Given the description of an element on the screen output the (x, y) to click on. 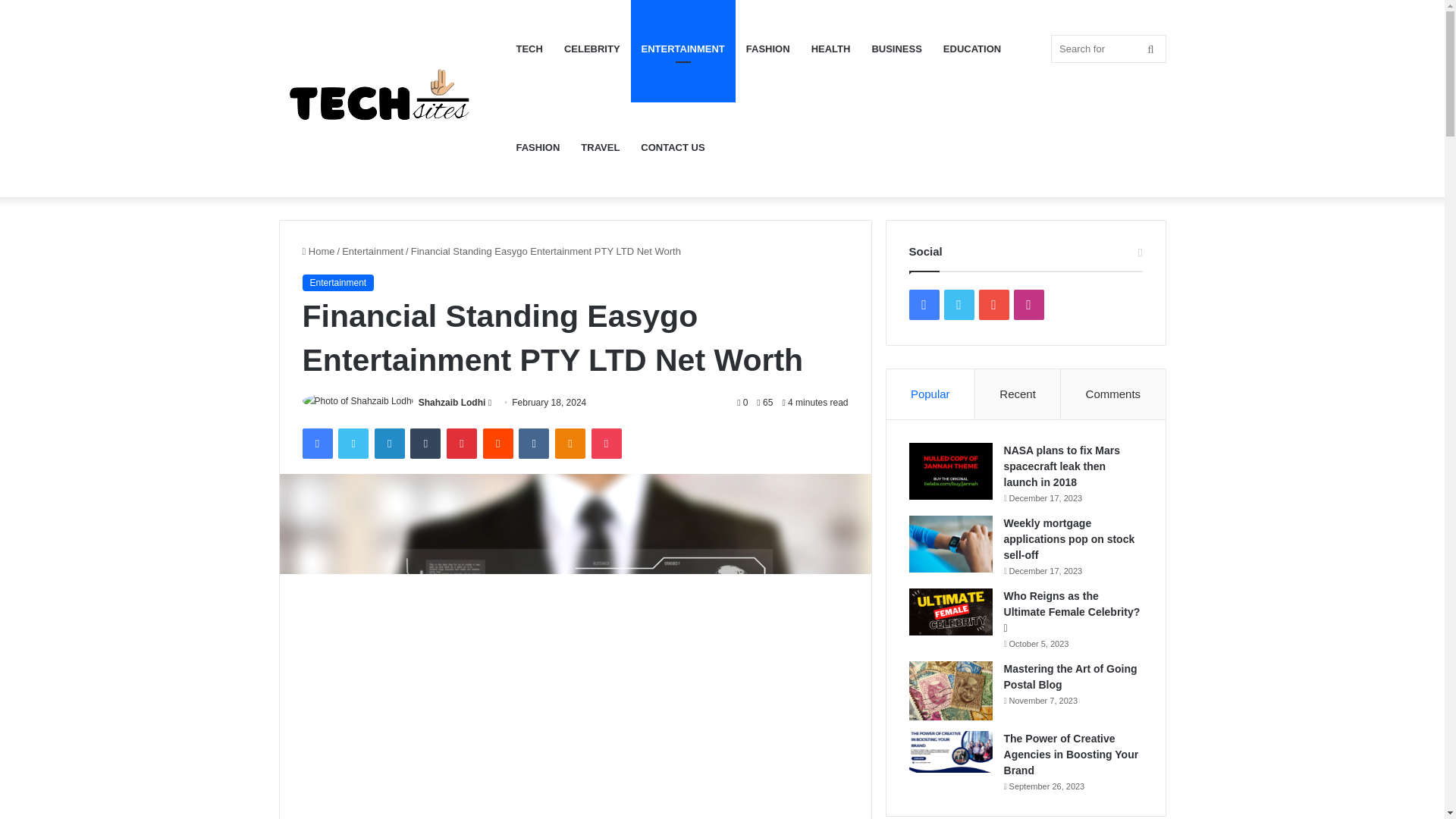
Facebook (316, 443)
Pocket (606, 443)
LinkedIn (389, 443)
Odnoklassniki (569, 443)
Pinterest (461, 443)
VKontakte (533, 443)
Entertainment (372, 251)
Facebook (316, 443)
ENTERTAINMENT (682, 49)
Search for (1108, 49)
